Given the description of an element on the screen output the (x, y) to click on. 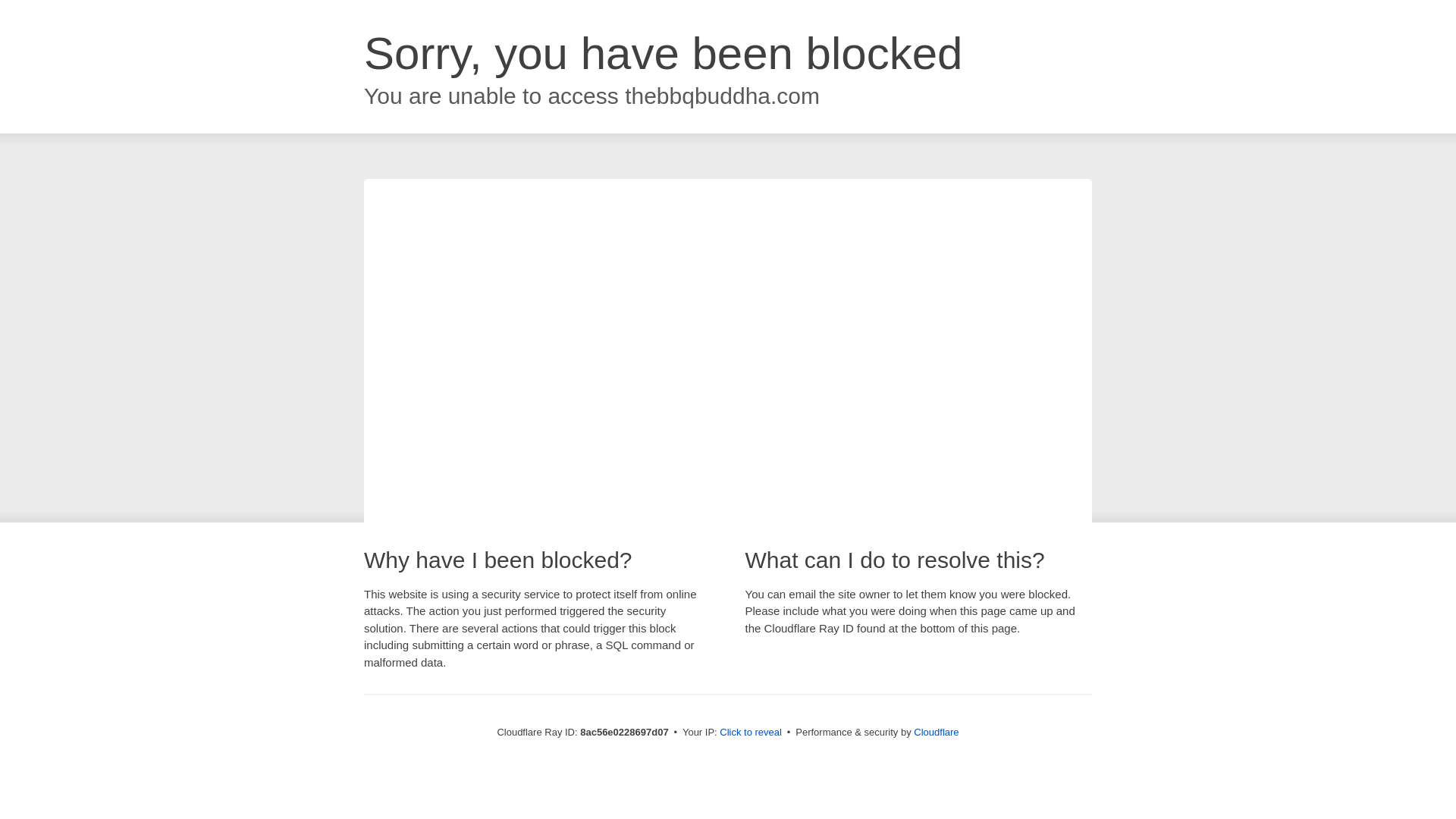
Click to reveal (750, 732)
Cloudflare (936, 731)
